Given the description of an element on the screen output the (x, y) to click on. 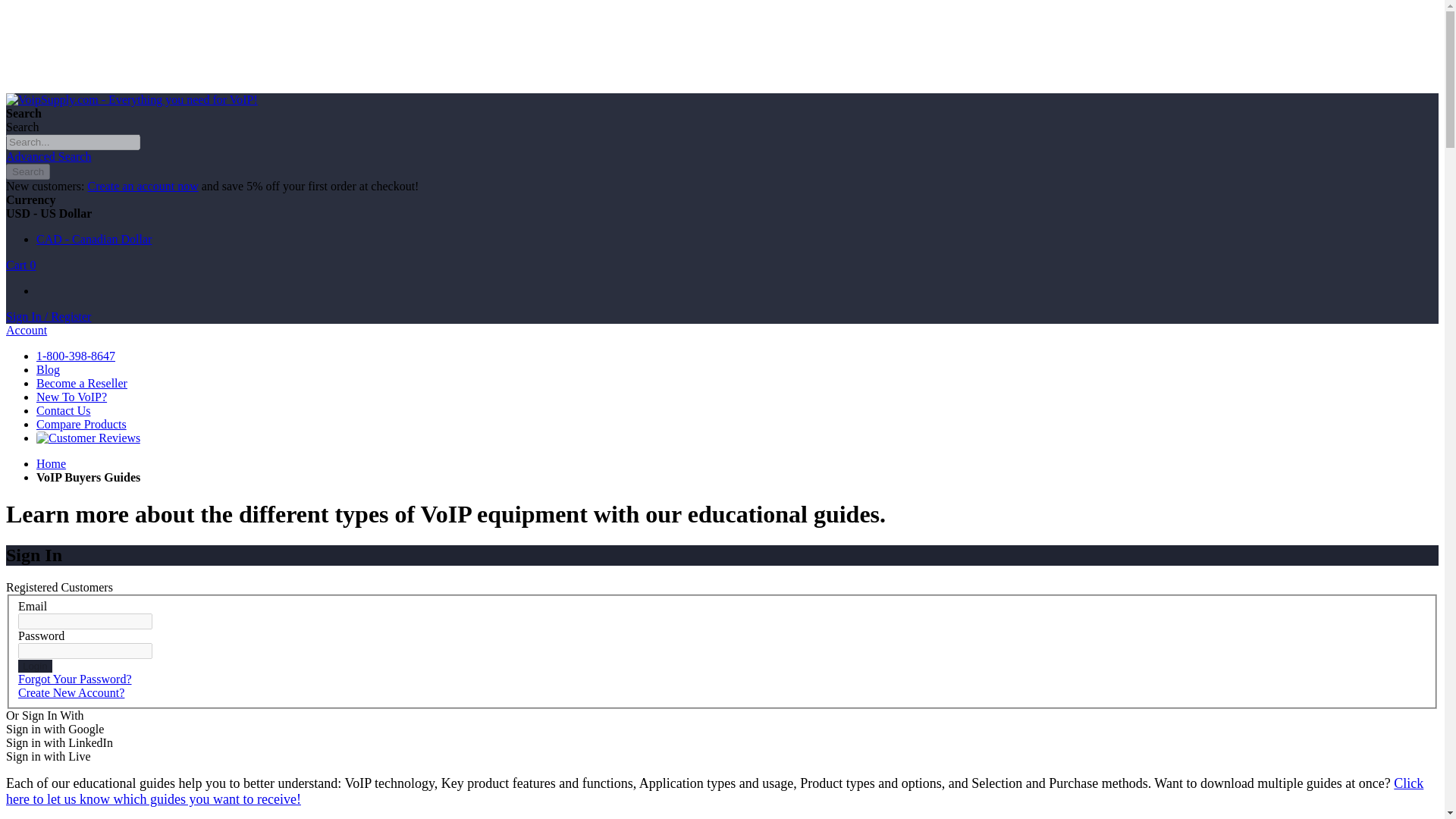
Sign in with Live (47, 756)
Create New Account? (70, 692)
Email (84, 621)
Password (84, 650)
Search (27, 171)
Sign in with Google (54, 728)
Sign in with LinkedIn (59, 742)
Become a Reseller (82, 382)
Click here to let us know which guides you want to receive! (714, 790)
VoipSupply.com - Everything you need for VoIP! (131, 99)
